Given the description of an element on the screen output the (x, y) to click on. 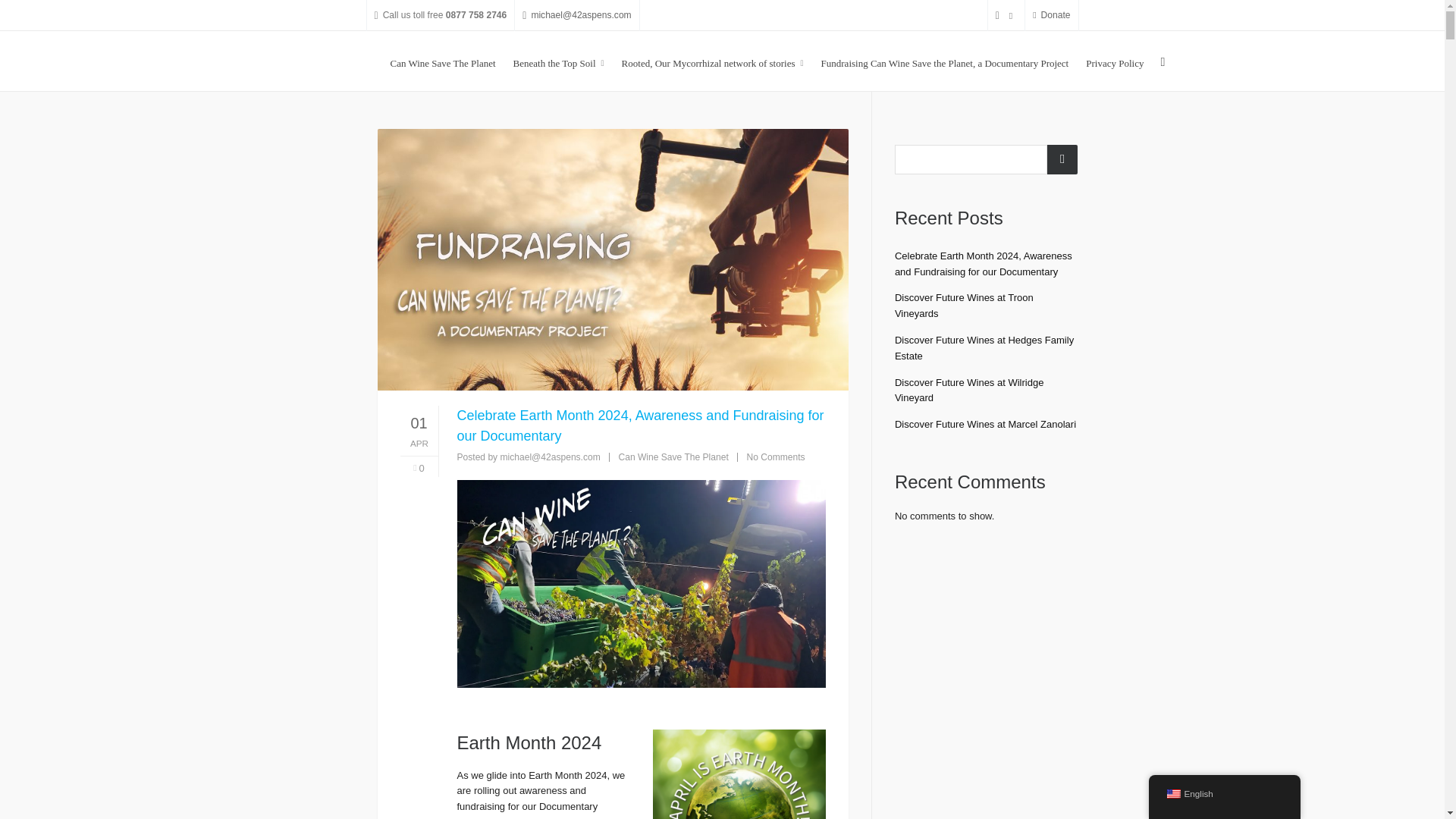
CWSTP 2 carousel Earth Month-2 (738, 774)
No Comments (775, 457)
No Comments (775, 457)
Rooted, Our Mycorrhizal network of stories (712, 61)
Can Wine Save The Planet (442, 61)
Privacy Policy (1114, 61)
Can Wine Save The Planet (672, 457)
Beneath the Top Soil (558, 61)
Donate (1051, 15)
Fundraising Can Wine Save the Planet, a Documentary Project (944, 61)
